Given the description of an element on the screen output the (x, y) to click on. 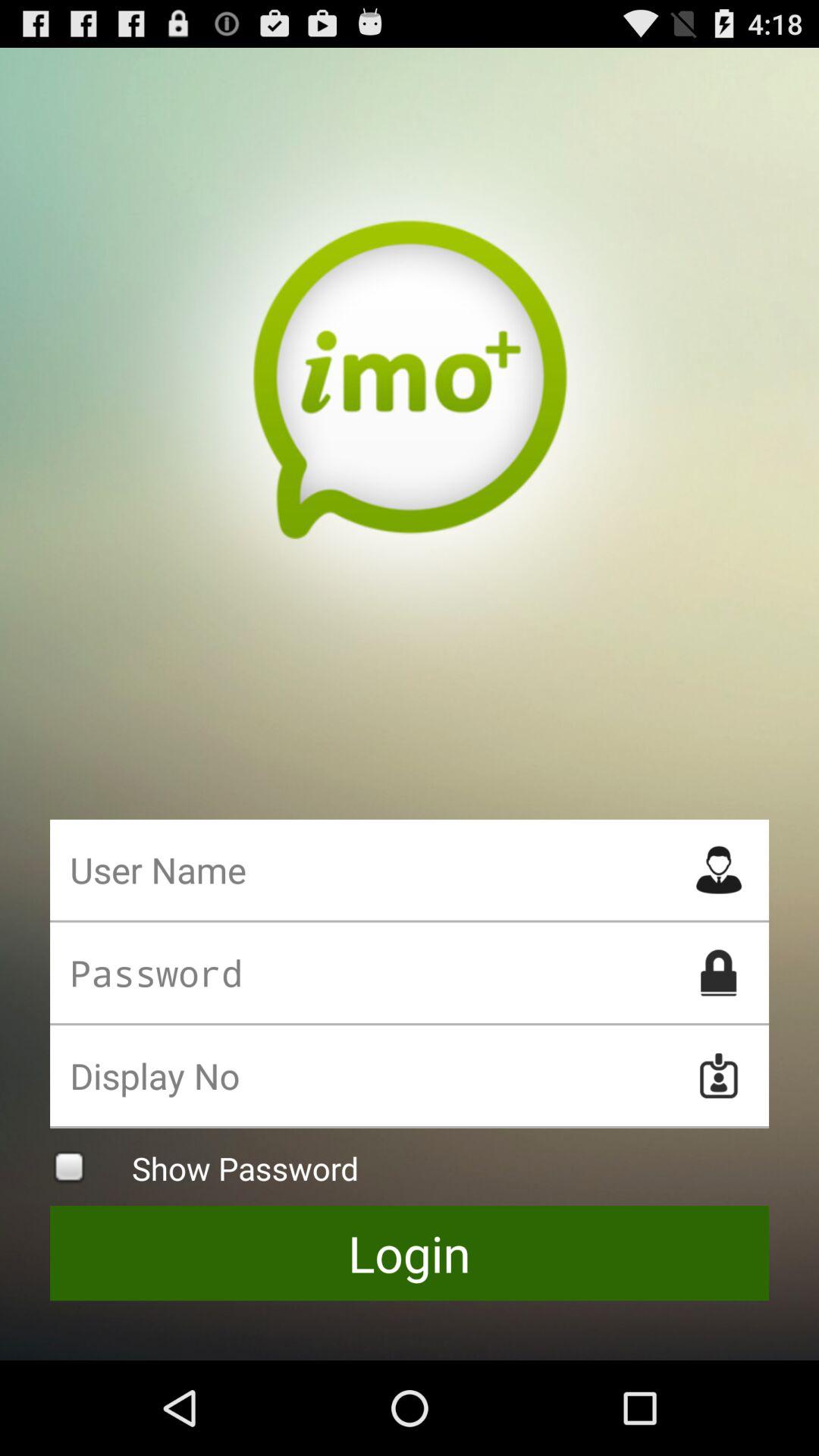
select show password checkbox (409, 1166)
